Given the description of an element on the screen output the (x, y) to click on. 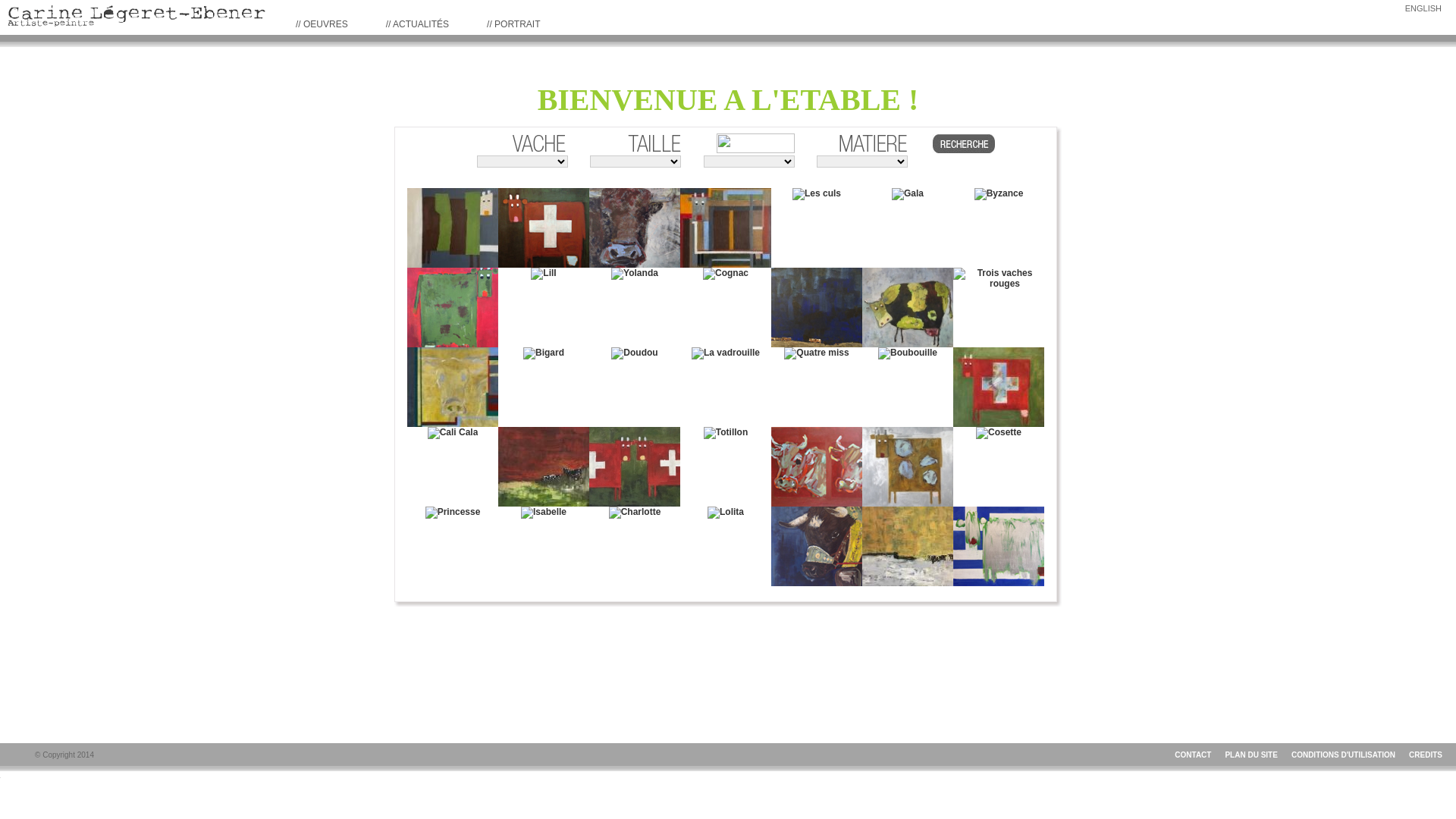
Princesse Element type: hover (452, 512)
ENGLISH Element type: text (1423, 7)
CONTACT Element type: text (1192, 754)
Doudou Element type: hover (634, 353)
Le troupeau Element type: hover (816, 307)
Artemis Element type: hover (634, 227)
Gala Element type: hover (907, 194)
L'alpage Element type: hover (543, 466)
Kiwi Element type: hover (452, 307)
Les culs Element type: hover (816, 194)
LilI Element type: hover (542, 273)
La vadrouille Element type: hover (725, 353)
PLAN DU SITE Element type: text (1250, 754)
Trois vaches rouges Element type: hover (998, 277)
Bella Element type: hover (452, 386)
Bobine Element type: hover (907, 307)
Mia Element type: hover (725, 227)
Isabelle Element type: hover (543, 512)
Lolita Element type: hover (725, 512)
// OEUVRES Element type: text (321, 23)
Chavira Element type: hover (816, 546)
Charlotte Element type: hover (634, 512)
Valentine Element type: hover (907, 466)
CONDITIONS D'UTILISATION Element type: text (1343, 754)
Granny Smith Element type: hover (998, 546)
Bigard Element type: hover (543, 353)
Totillon Element type: hover (725, 432)
Les Ferandaises Element type: hover (907, 546)
Cognac Element type: hover (725, 273)
Quatre miss Element type: hover (816, 353)
Byzance Element type: hover (998, 194)
Mojito Element type: hover (452, 227)
Cali Cala Element type: hover (452, 432)
Yolanda Element type: hover (634, 273)
Boubouille Element type: hover (907, 353)
// PORTRAIT Element type: text (512, 23)
Croix suisse Element type: hover (998, 386)
Cosette Element type: hover (998, 432)
CREDITS Element type: text (1425, 754)
